Given the description of an element on the screen output the (x, y) to click on. 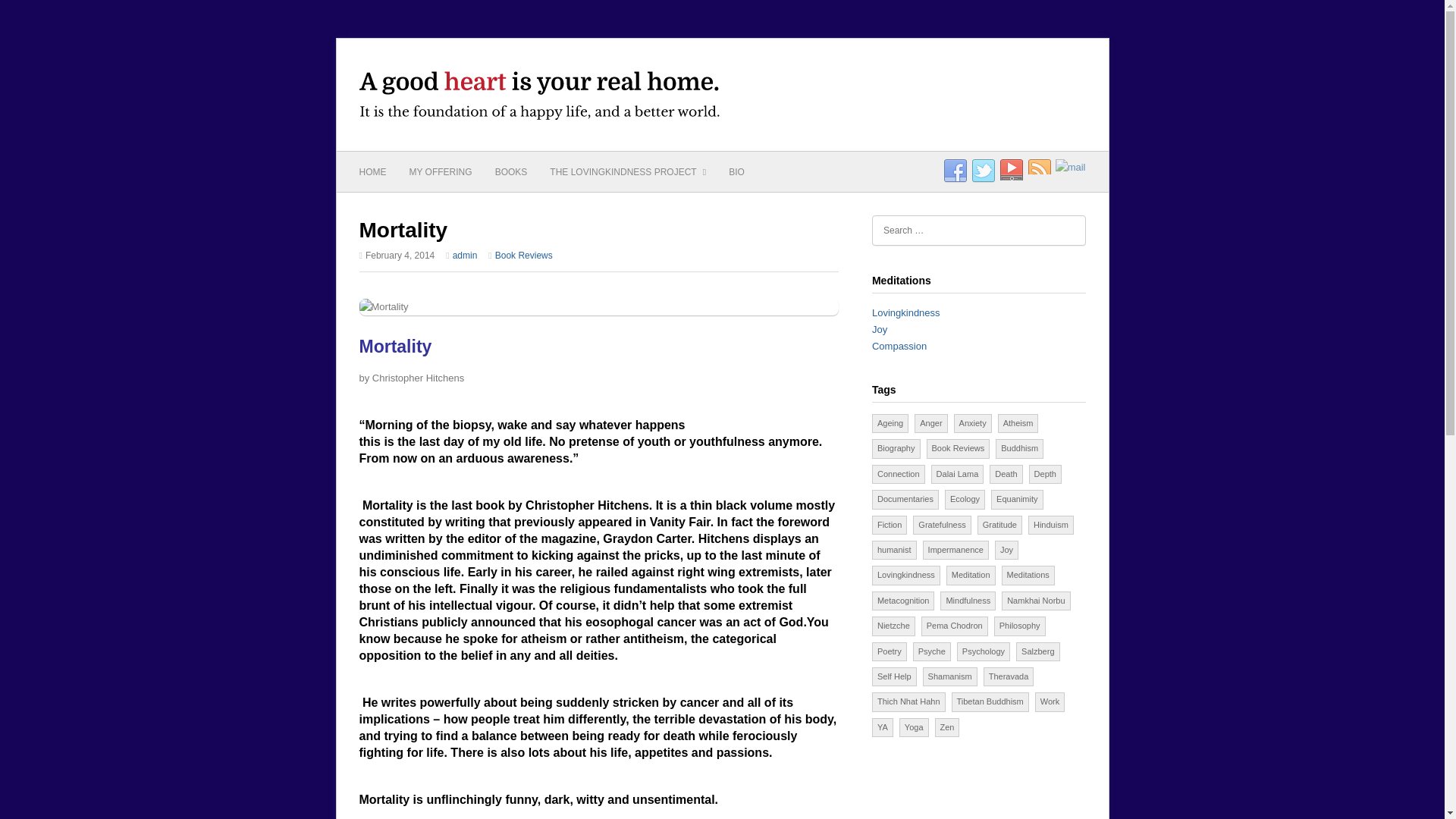
Ageing (890, 423)
Posts by admin (464, 255)
admin (464, 255)
Lovingkindness (906, 312)
Biography (896, 447)
Anxiety (972, 423)
twitter (983, 170)
mail (1070, 167)
rss (1039, 170)
Compassion (899, 346)
Atheism (1018, 423)
Book Reviews (524, 255)
Book Reviews (958, 447)
THE LOVINGKINDNESS PROJECT (628, 172)
facebook (955, 170)
